Given the description of an element on the screen output the (x, y) to click on. 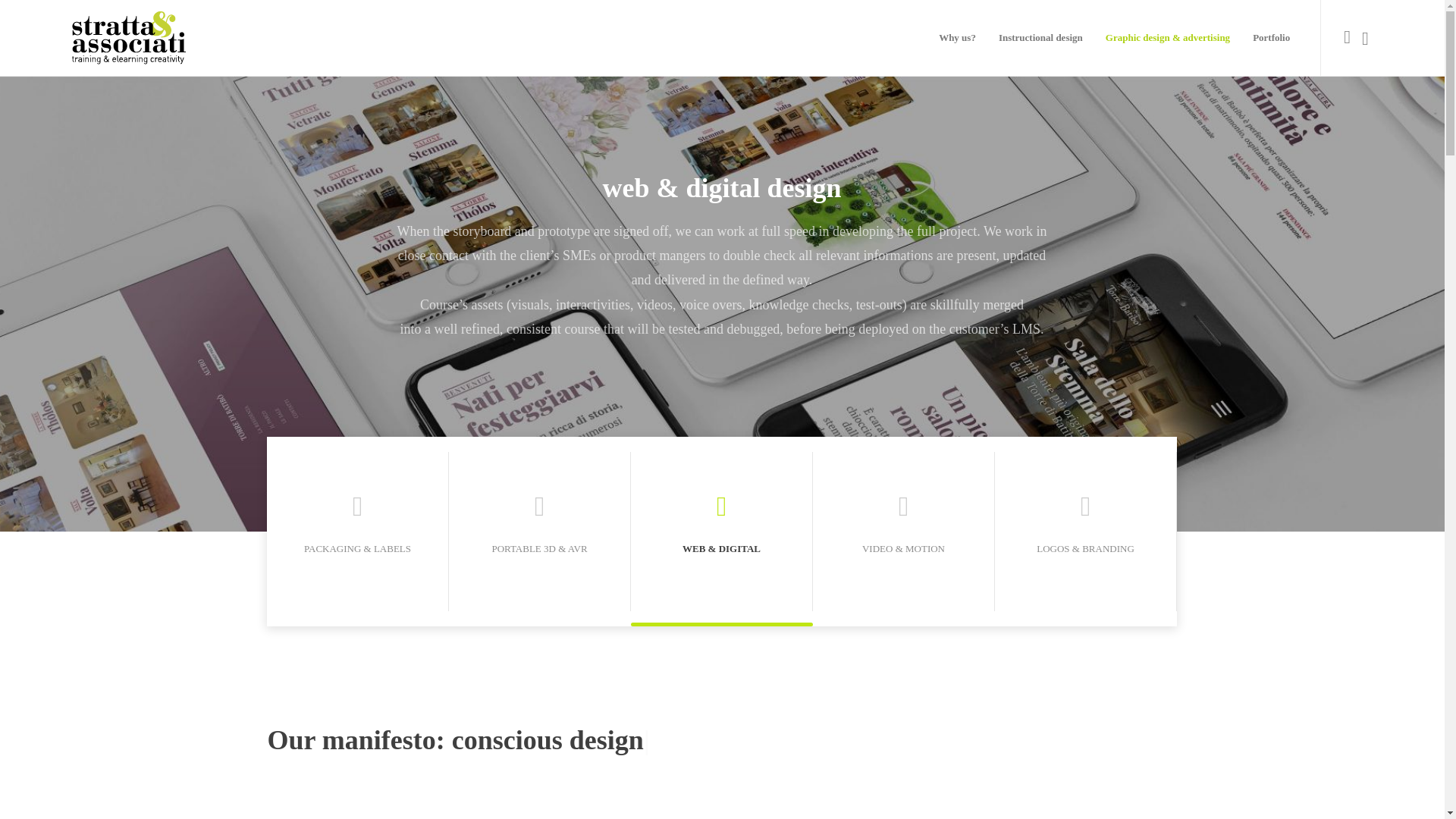
Instructional design (1040, 38)
